Given the description of an element on the screen output the (x, y) to click on. 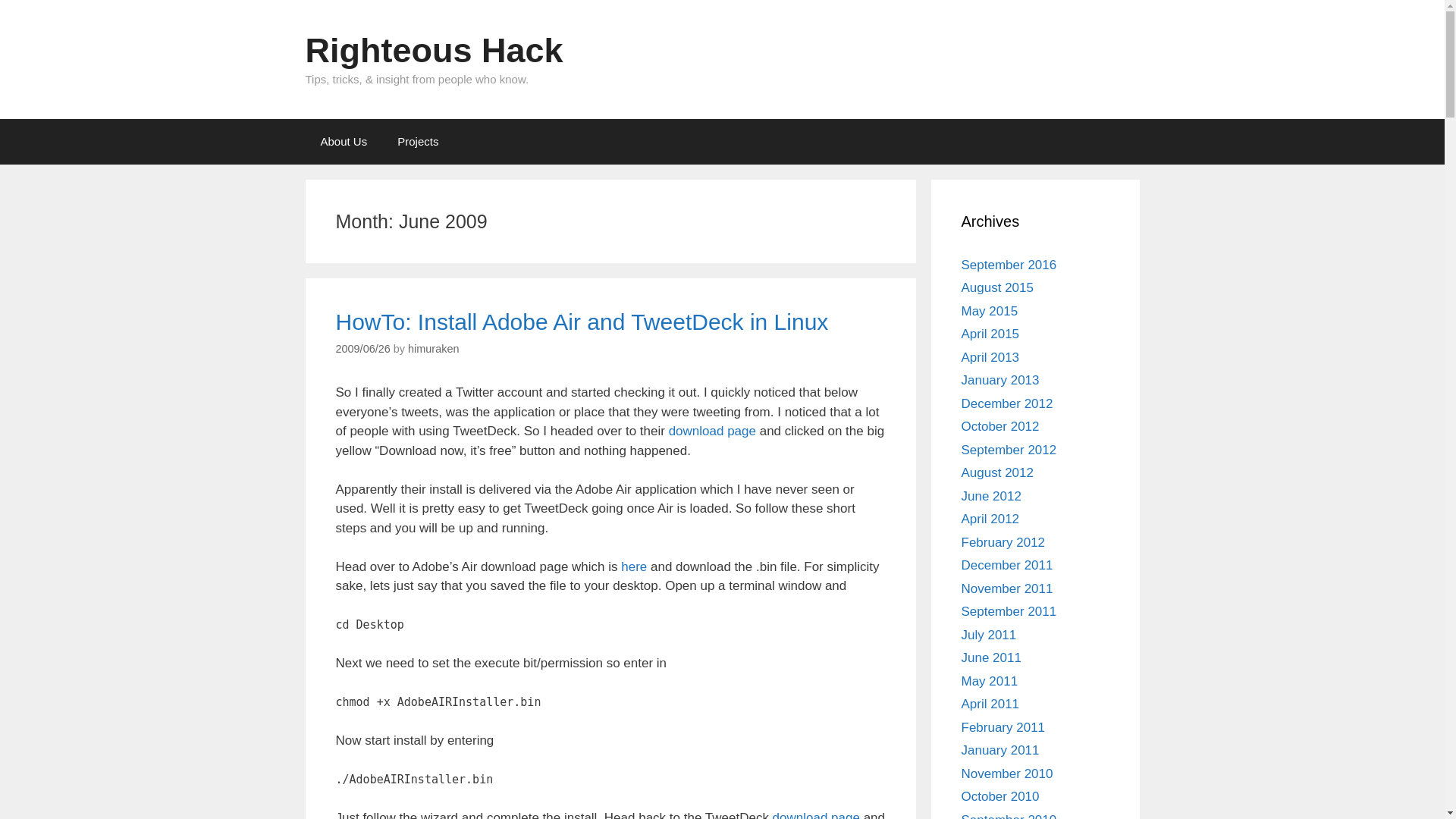
8:31 pm (362, 348)
download page (816, 814)
himuraken (432, 348)
download page (711, 431)
HowTo: Install Adobe Air and TweetDeck in Linux (581, 321)
About Us (342, 140)
Righteous Hack (433, 50)
Projects (416, 140)
here (633, 566)
View all posts by himuraken (432, 348)
